Given the description of an element on the screen output the (x, y) to click on. 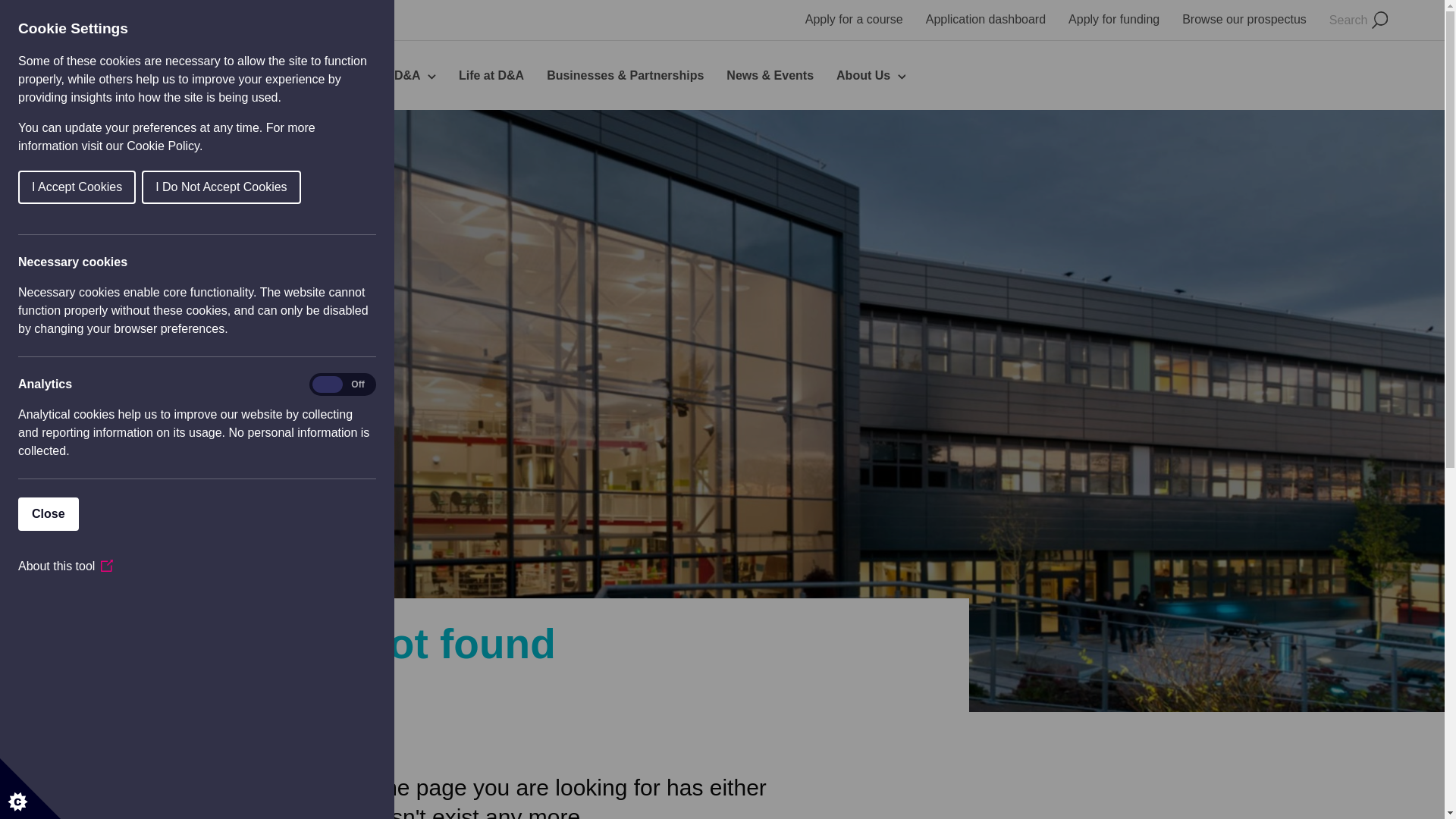
Courses (159, 75)
I Do Not Accept Cookies (50, 186)
Chat (1406, 779)
Browse our prospectus (1244, 19)
Subject Areas (246, 75)
Search (1358, 19)
Apply for a course (853, 19)
Application dashboard (985, 19)
Apply for funding (1113, 19)
